Given the description of an element on the screen output the (x, y) to click on. 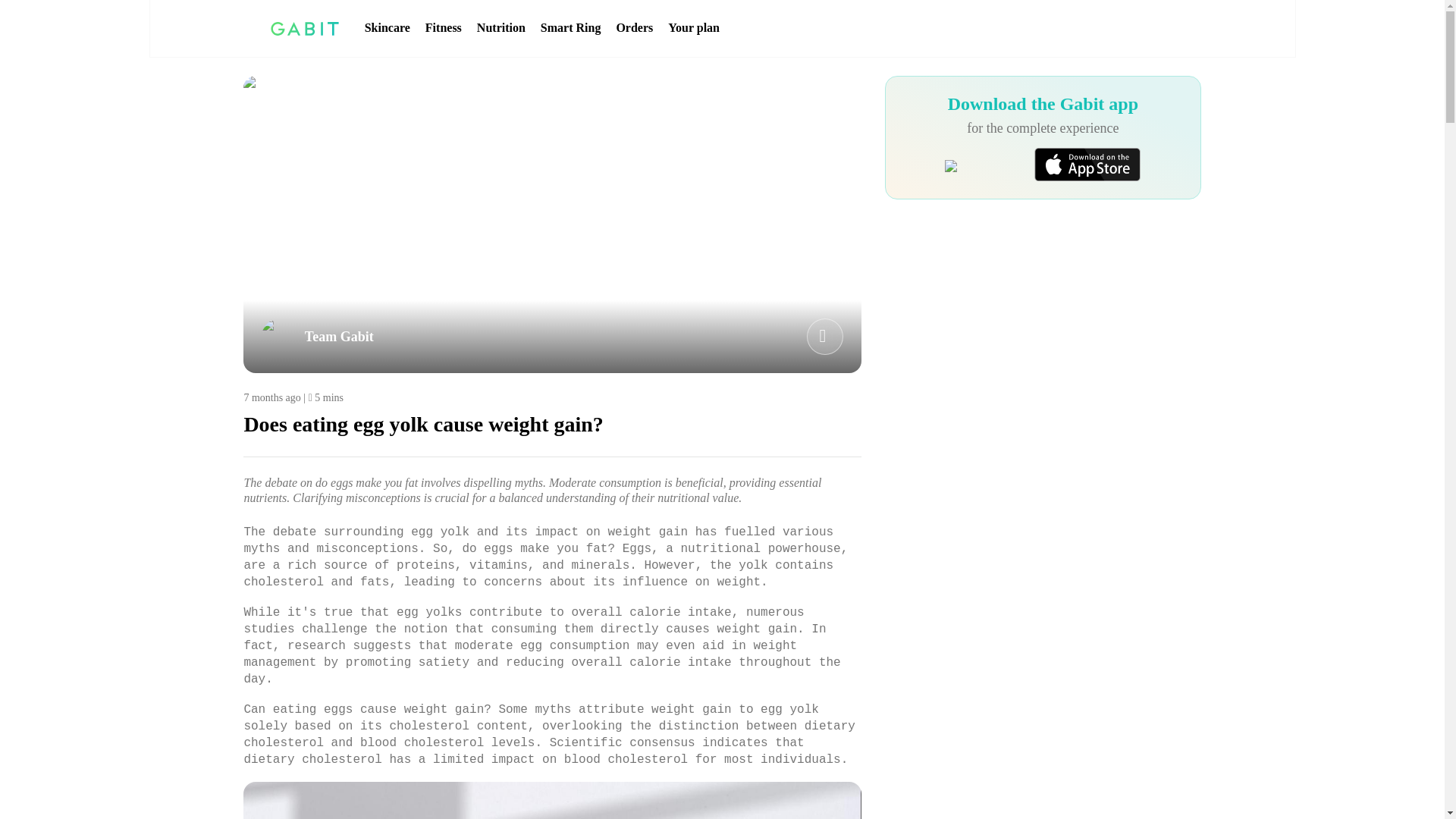
Your plan (693, 27)
Fitness (443, 27)
Orders (633, 27)
Nutrition (501, 27)
Smart Ring (570, 27)
Skincare (387, 27)
